Given the description of an element on the screen output the (x, y) to click on. 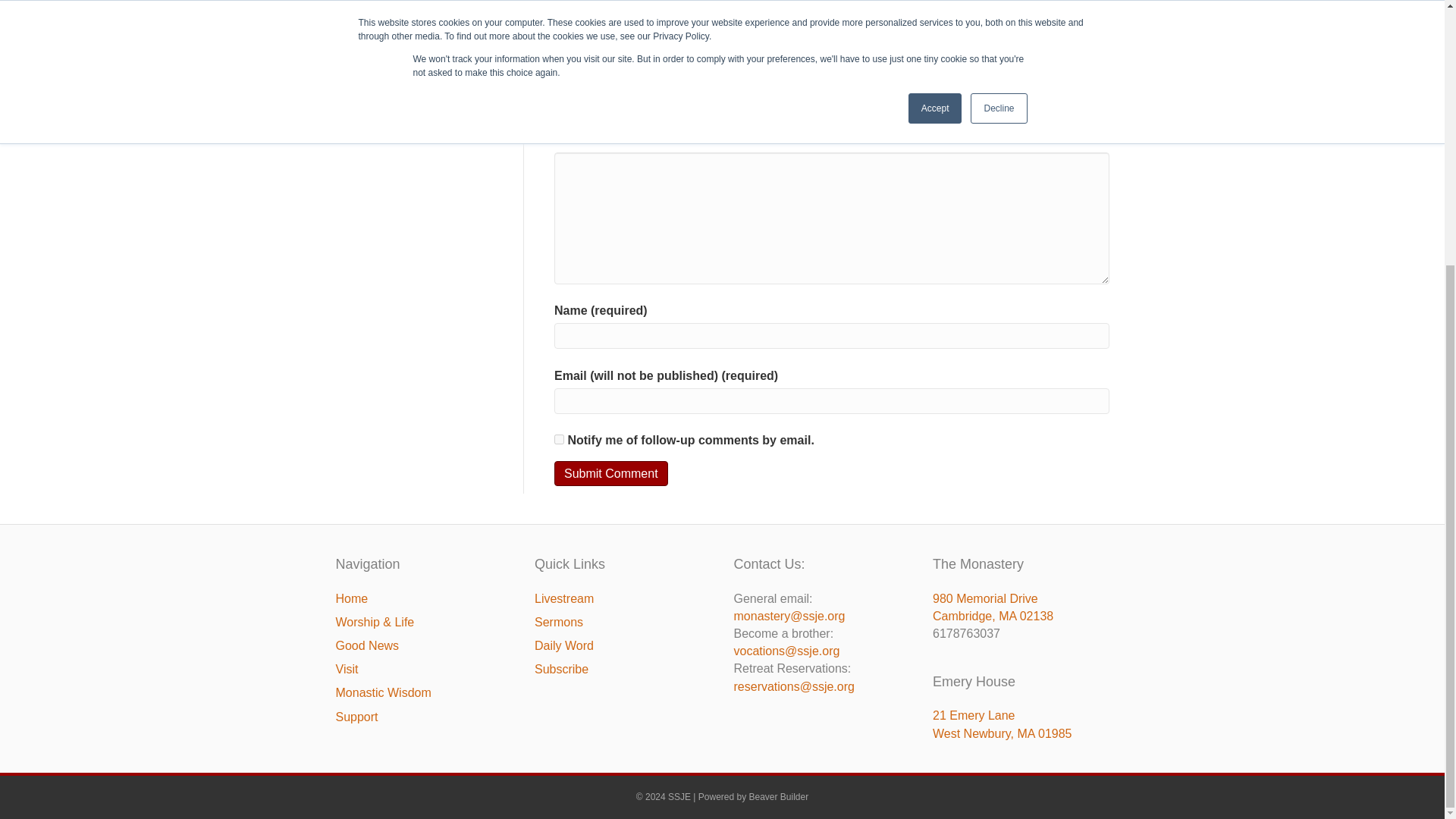
WordPress Page Builder Plugin (779, 796)
subscribe (559, 439)
Submit Comment (611, 473)
